Given the description of an element on the screen output the (x, y) to click on. 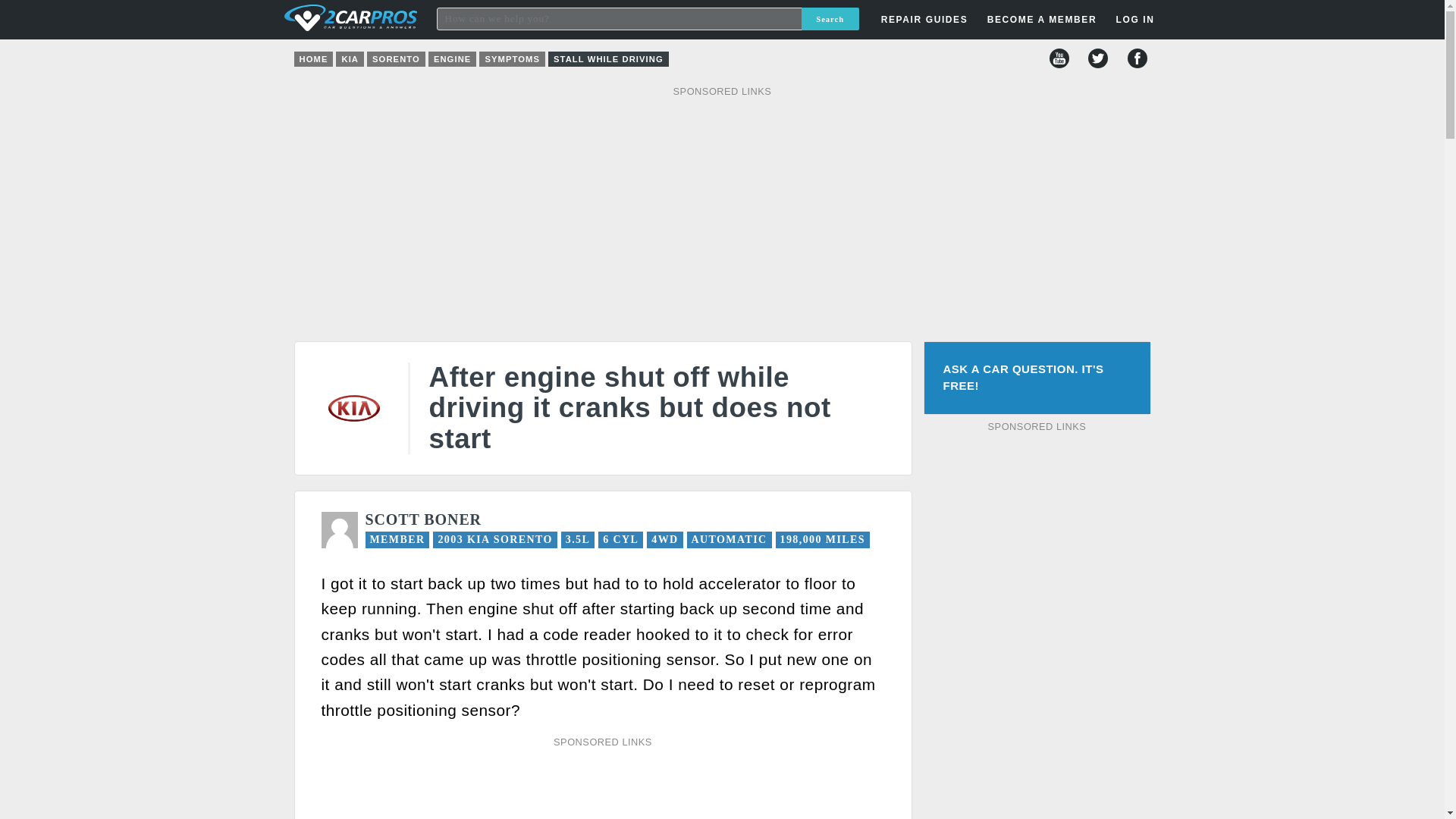
BECOME A MEMBER (1041, 19)
ENGINE (452, 58)
SYMPTOMS (511, 58)
STALL WHILE DRIVING (608, 58)
LOG IN (1048, 242)
Advertisement (1037, 626)
YouTube (1058, 57)
KIA (350, 58)
Advertisement (600, 786)
Search (830, 18)
LOG IN (1134, 19)
SORENTO (395, 58)
REPAIR GUIDES (924, 19)
Twitter (1097, 57)
